Given the description of an element on the screen output the (x, y) to click on. 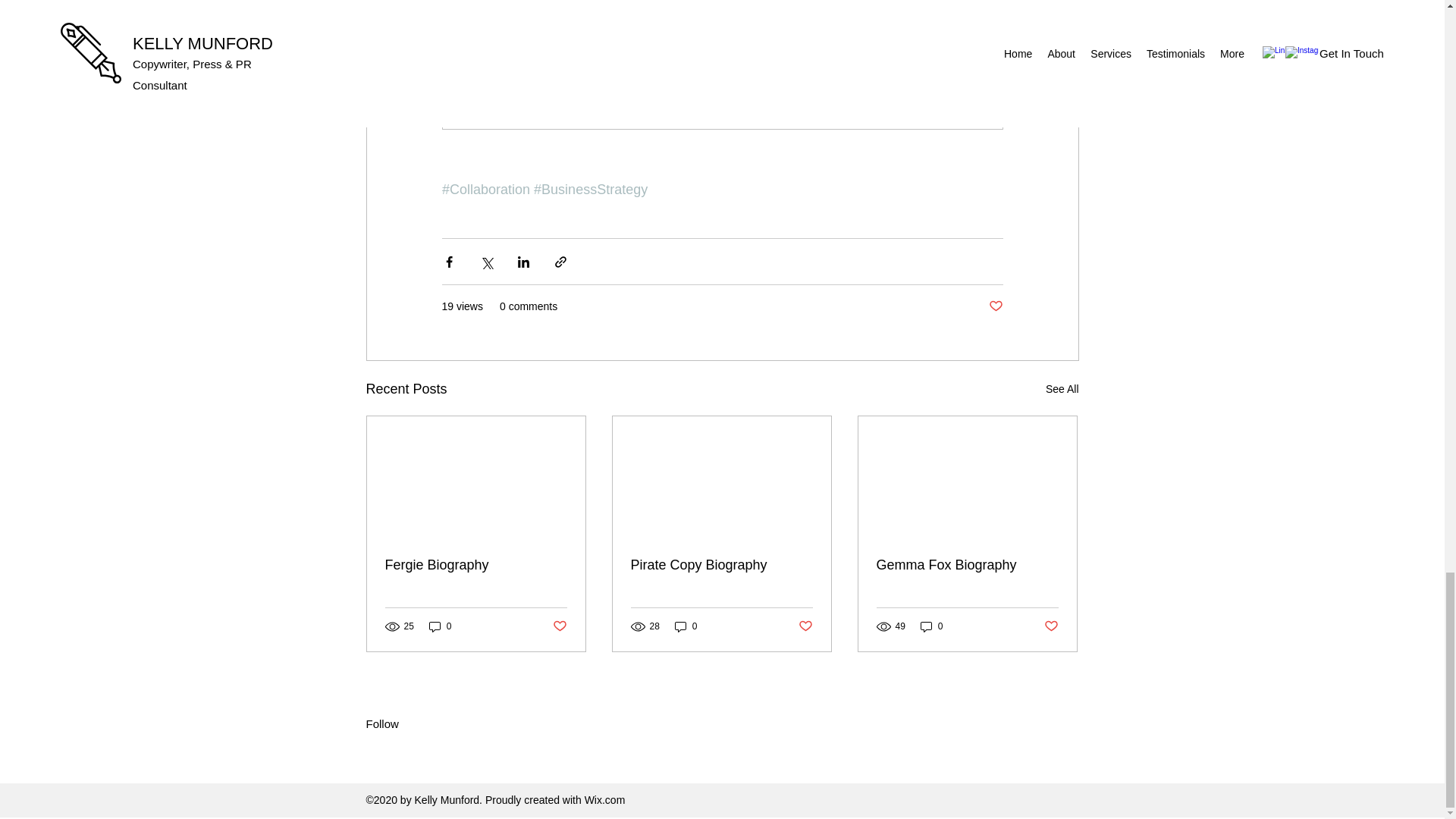
Post not marked as liked (995, 306)
See All (1061, 389)
Fergie Biography (476, 565)
Post not marked as liked (1050, 626)
Post not marked as liked (804, 626)
0 (440, 626)
Gemma Fox Biography (967, 565)
Post not marked as liked (558, 626)
Pirate Copy Biography (721, 565)
0 (685, 626)
